Given the description of an element on the screen output the (x, y) to click on. 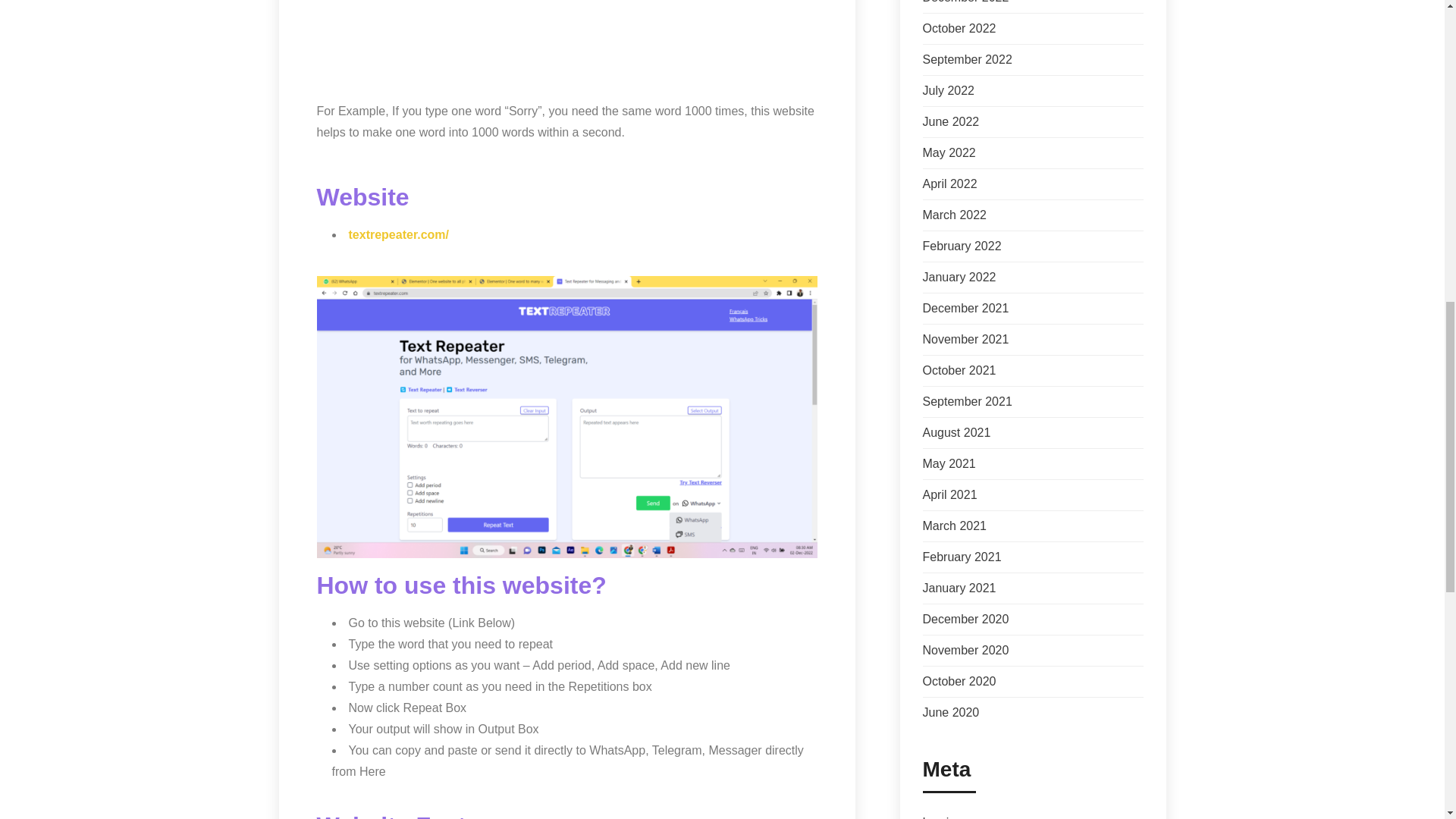
Advertisement (567, 47)
June 2022 (949, 121)
December 2022 (965, 2)
April 2022 (948, 183)
March 2022 (954, 214)
September 2022 (966, 59)
July 2022 (947, 90)
May 2022 (948, 152)
October 2022 (958, 28)
